Given the description of an element on the screen output the (x, y) to click on. 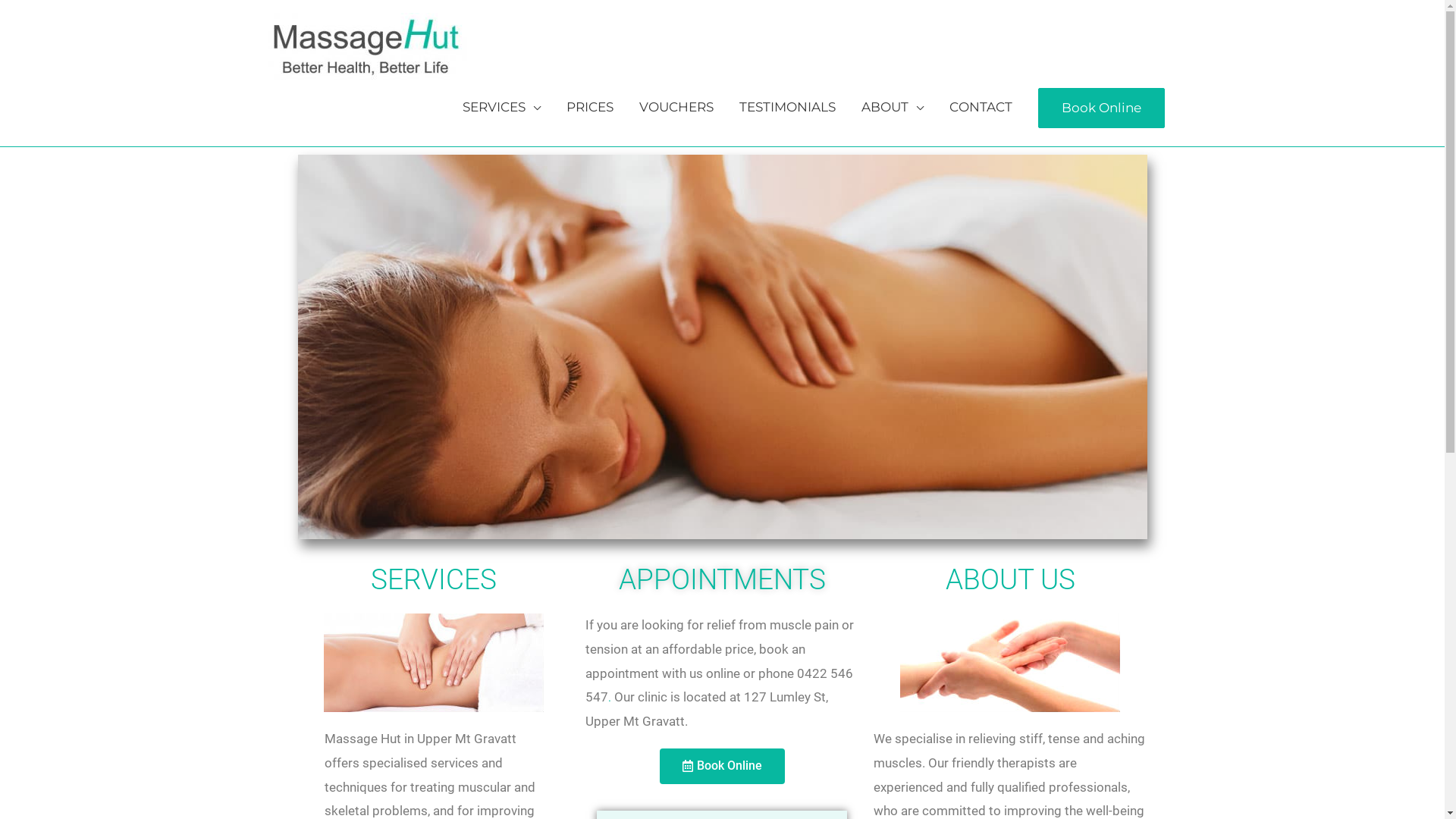
CONTACT Element type: text (979, 106)
Book Online Element type: text (1100, 107)
PRICES Element type: text (589, 106)
VOUCHERS Element type: text (676, 106)
. Element type: text (609, 697)
TESTIMONIALS Element type: text (787, 106)
ABOUT Element type: text (891, 106)
ABOUT US Element type: text (1010, 579)
SERVICES Element type: text (433, 579)
APPOINTMENTS Element type: text (721, 579)
Book Online Element type: text (1100, 107)
Book Online Element type: text (721, 766)
SERVICES Element type: text (500, 106)
